Given the description of an element on the screen output the (x, y) to click on. 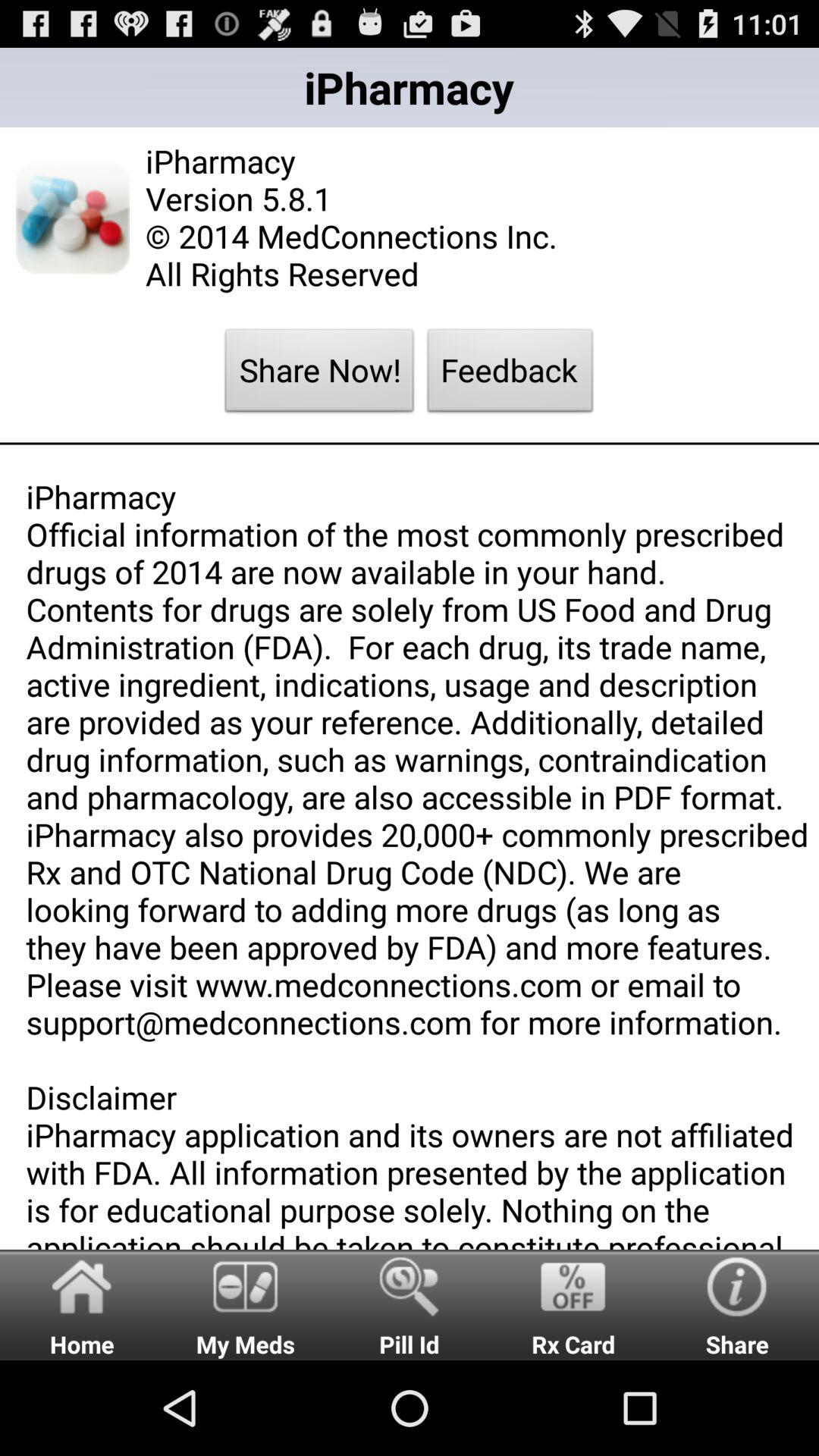
tap my meds icon (245, 1304)
